Given the description of an element on the screen output the (x, y) to click on. 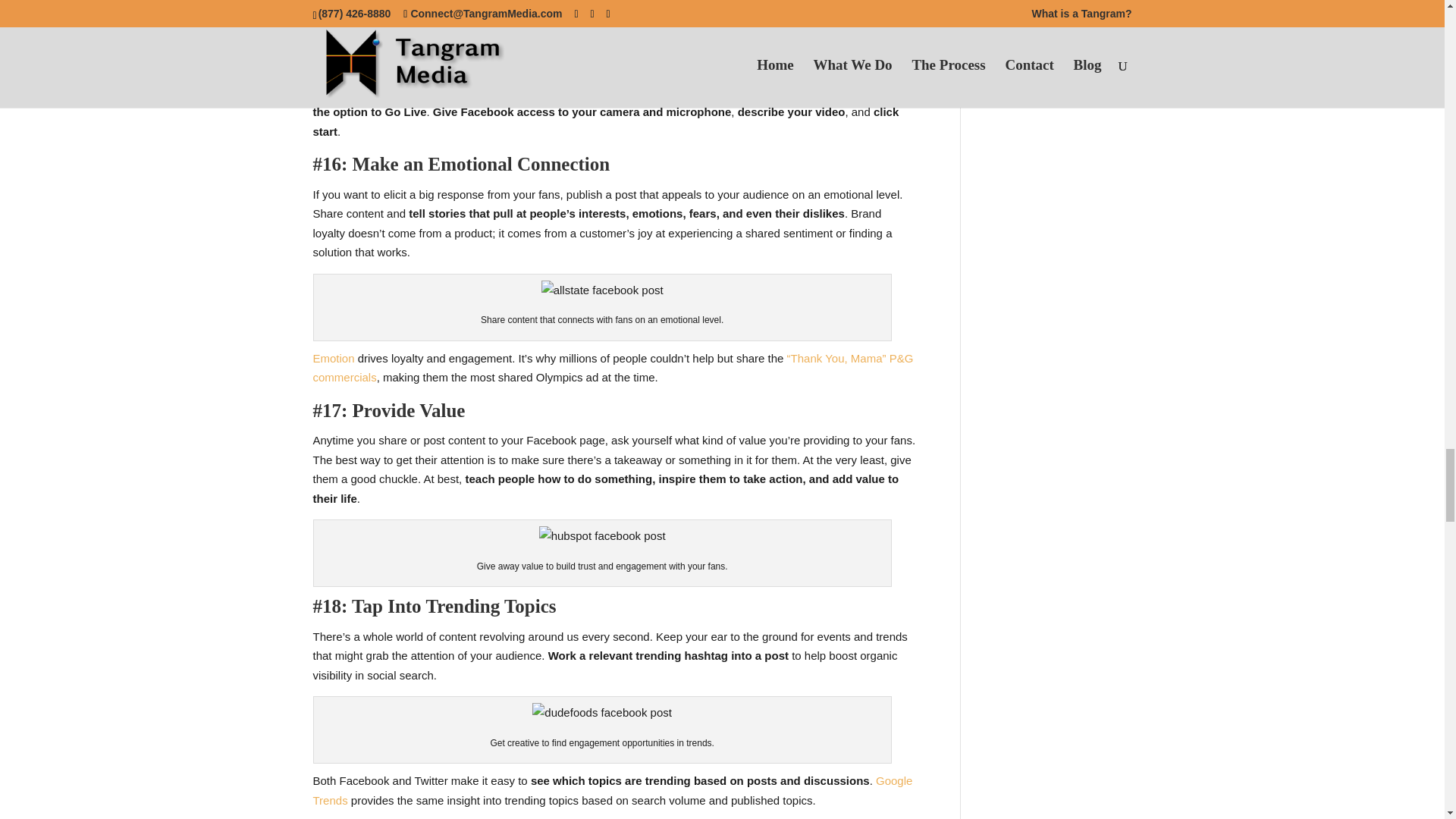
Emotion (333, 358)
Google Trends (612, 789)
